Given the description of an element on the screen output the (x, y) to click on. 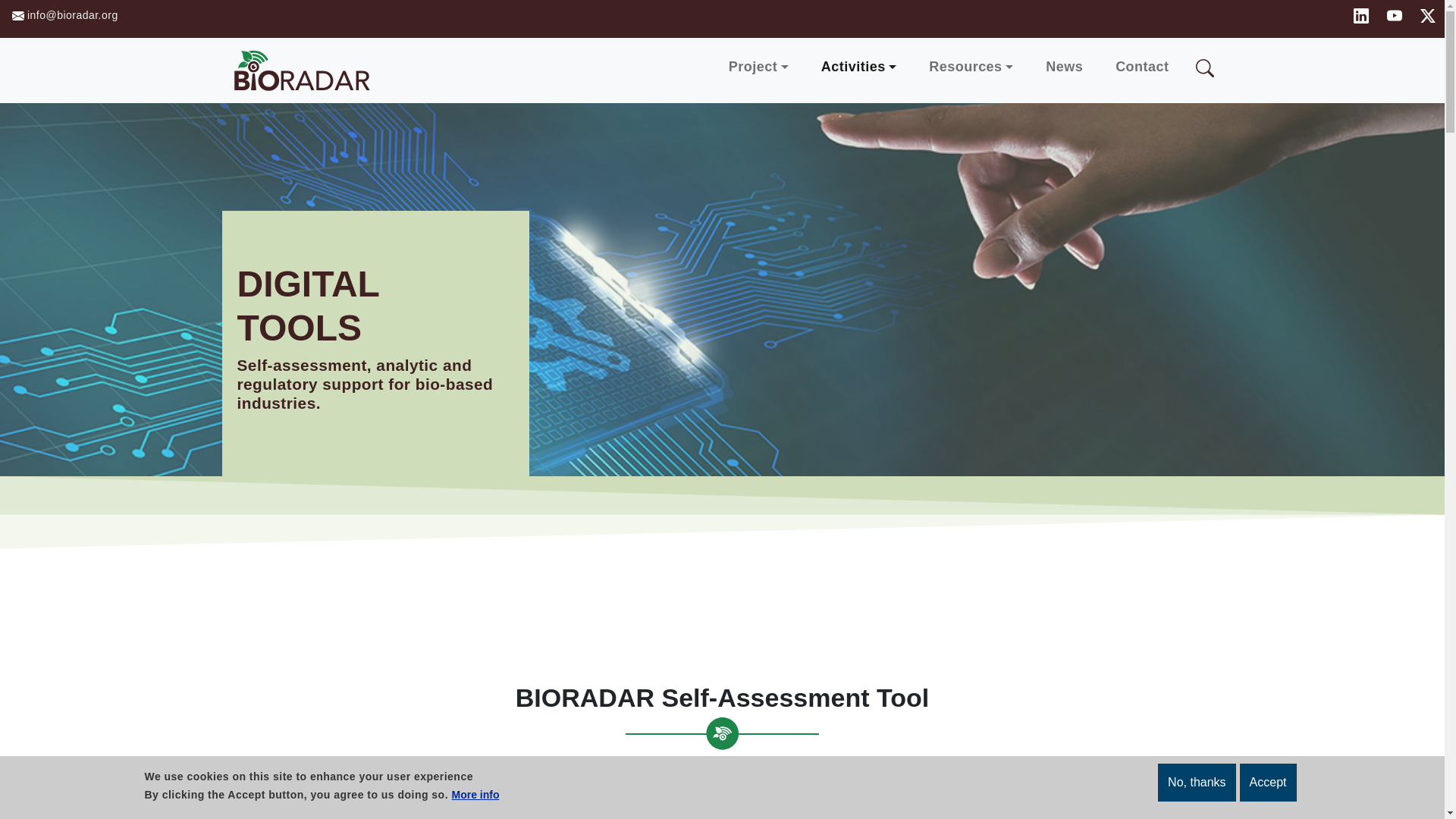
Home (307, 70)
More info (475, 795)
Contact (1141, 66)
News (1064, 66)
Expand menu Resources (971, 66)
Accept (1268, 782)
Expand menu Activities (858, 66)
Expand menu Project (758, 66)
Skip to main content (71, 11)
